Given the description of an element on the screen output the (x, y) to click on. 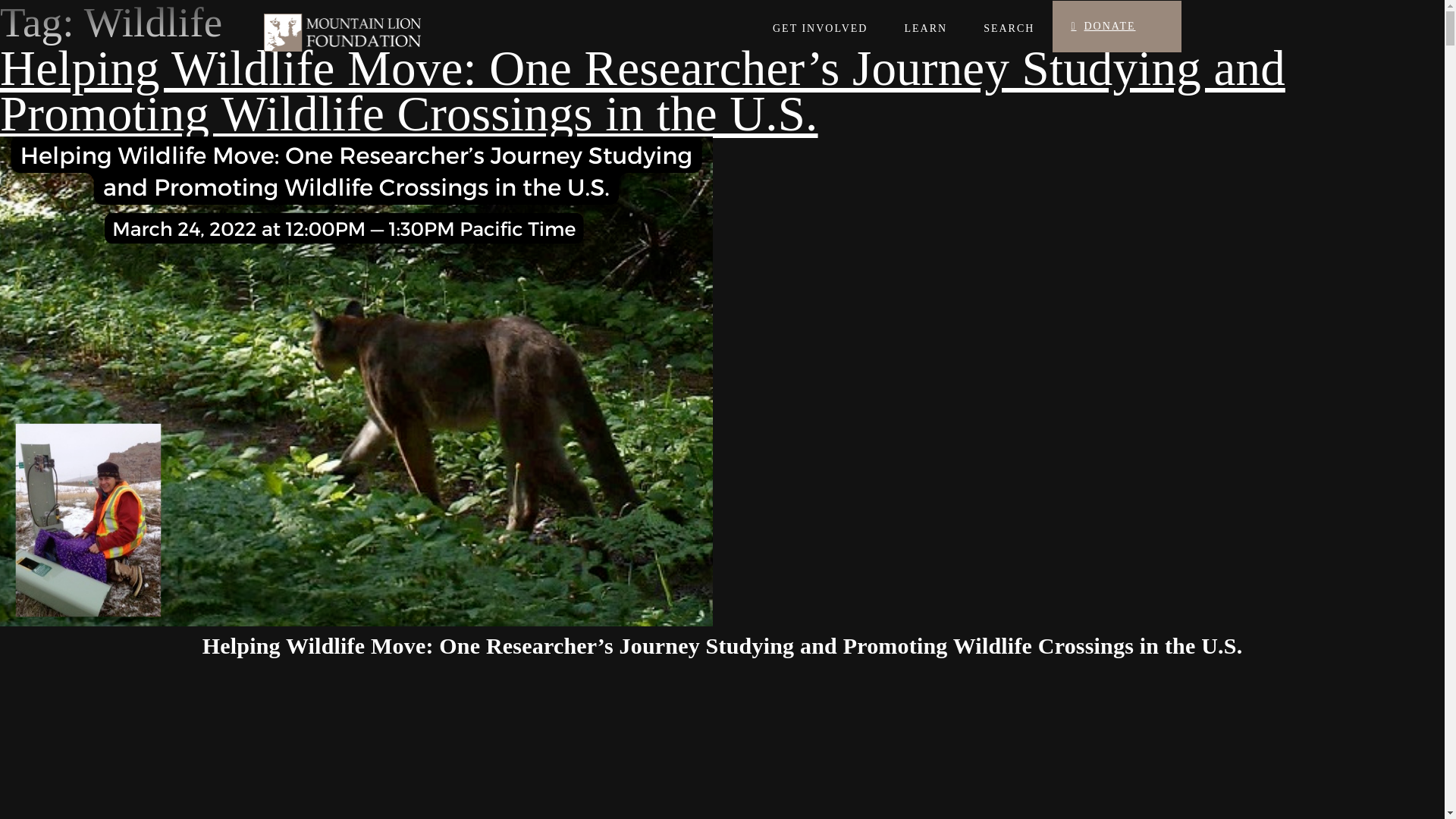
GET INVOLVED (829, 29)
DONATE (1116, 26)
SEARCH (1008, 29)
LEARN (925, 29)
